Given the description of an element on the screen output the (x, y) to click on. 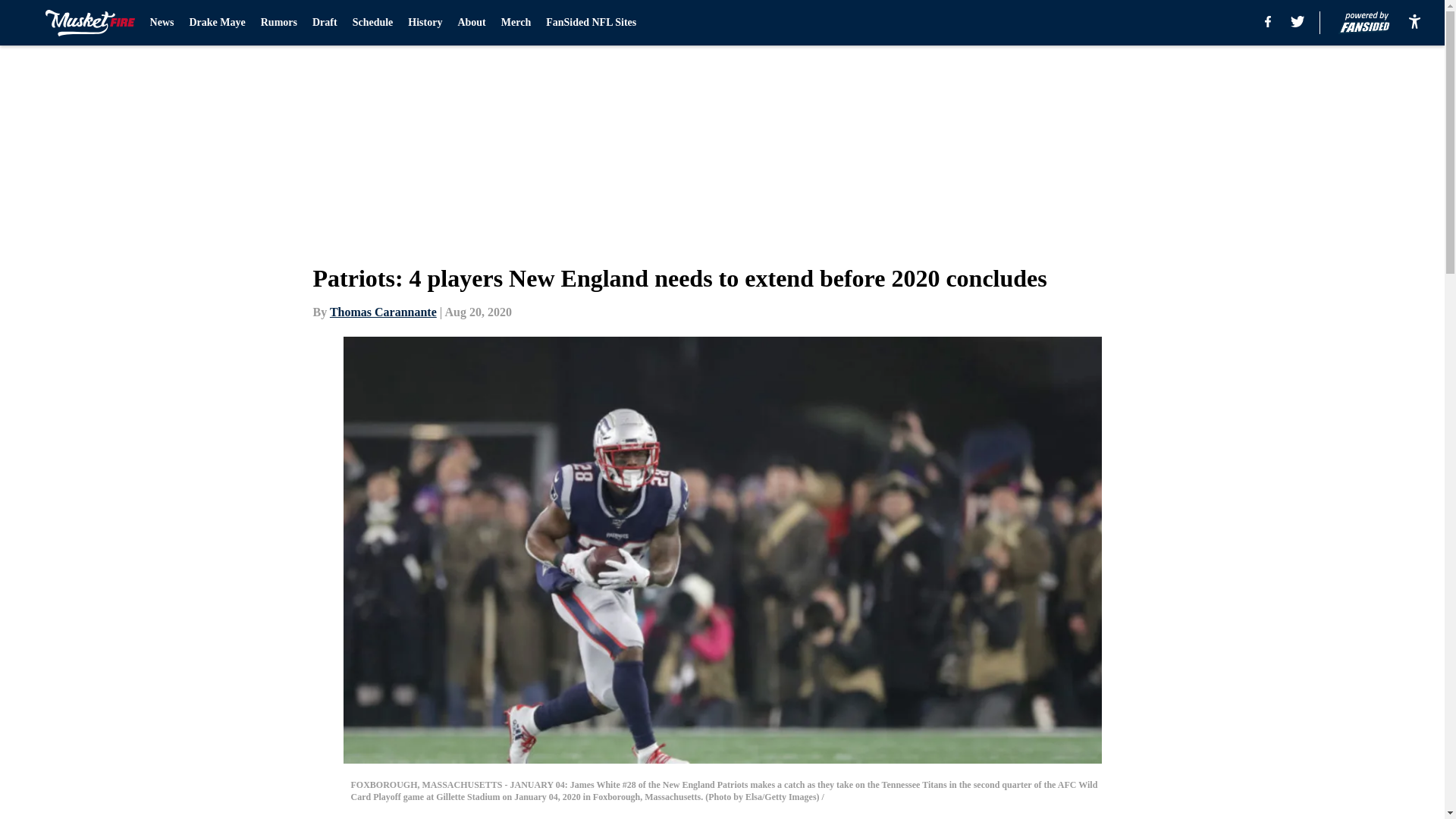
Rumors (278, 22)
Draft (325, 22)
Thomas Carannante (383, 311)
History (424, 22)
Schedule (372, 22)
News (161, 22)
Drake Maye (216, 22)
About (470, 22)
Merch (515, 22)
FanSided NFL Sites (591, 22)
